Given the description of an element on the screen output the (x, y) to click on. 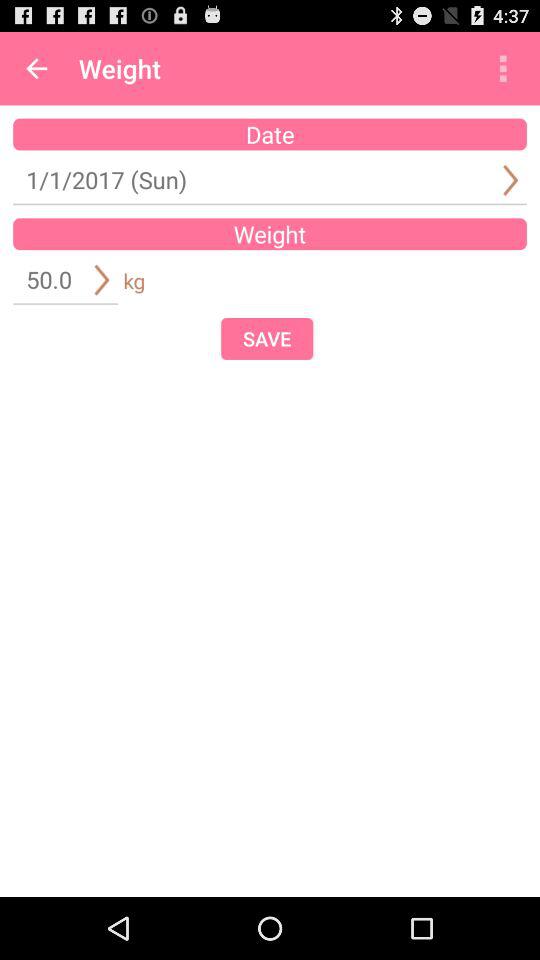
turn on the item below weight (267, 338)
